Given the description of an element on the screen output the (x, y) to click on. 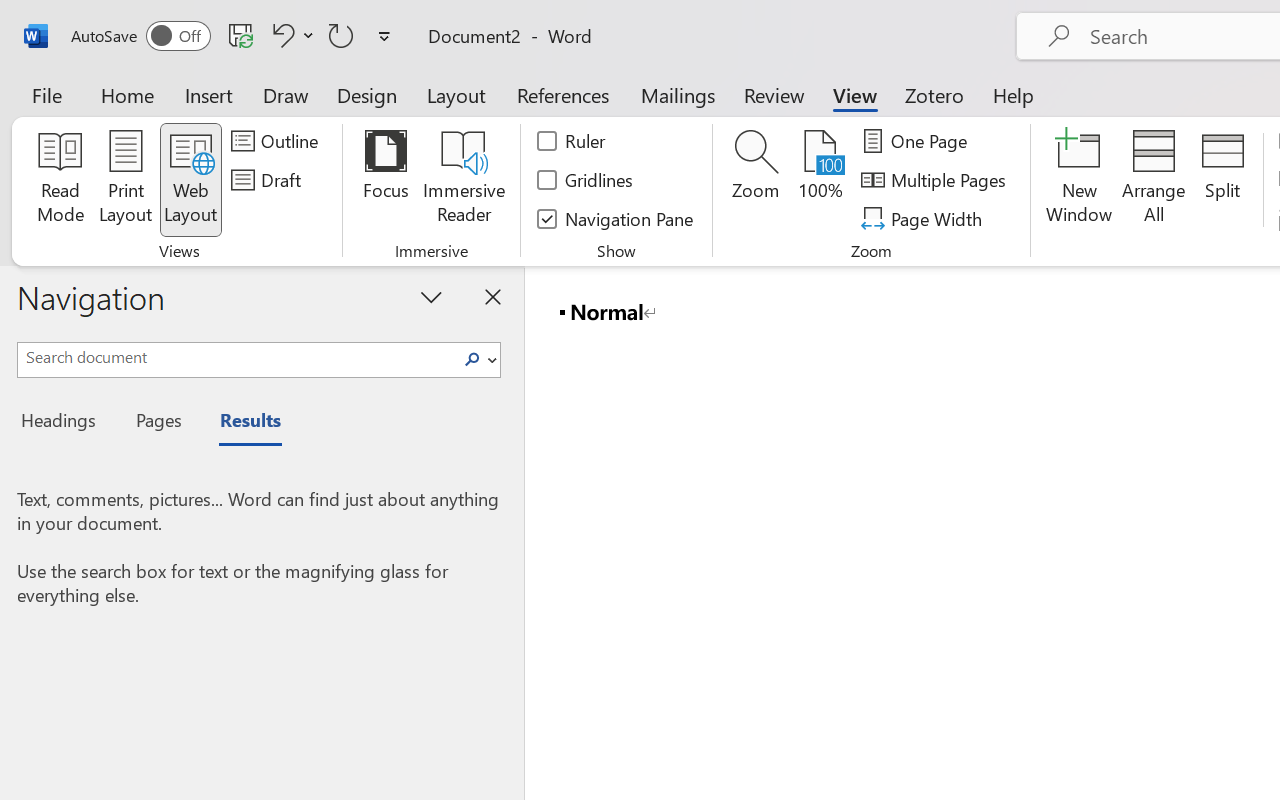
Immersive Reader (464, 179)
Design (367, 94)
